Given the description of an element on the screen output the (x, y) to click on. 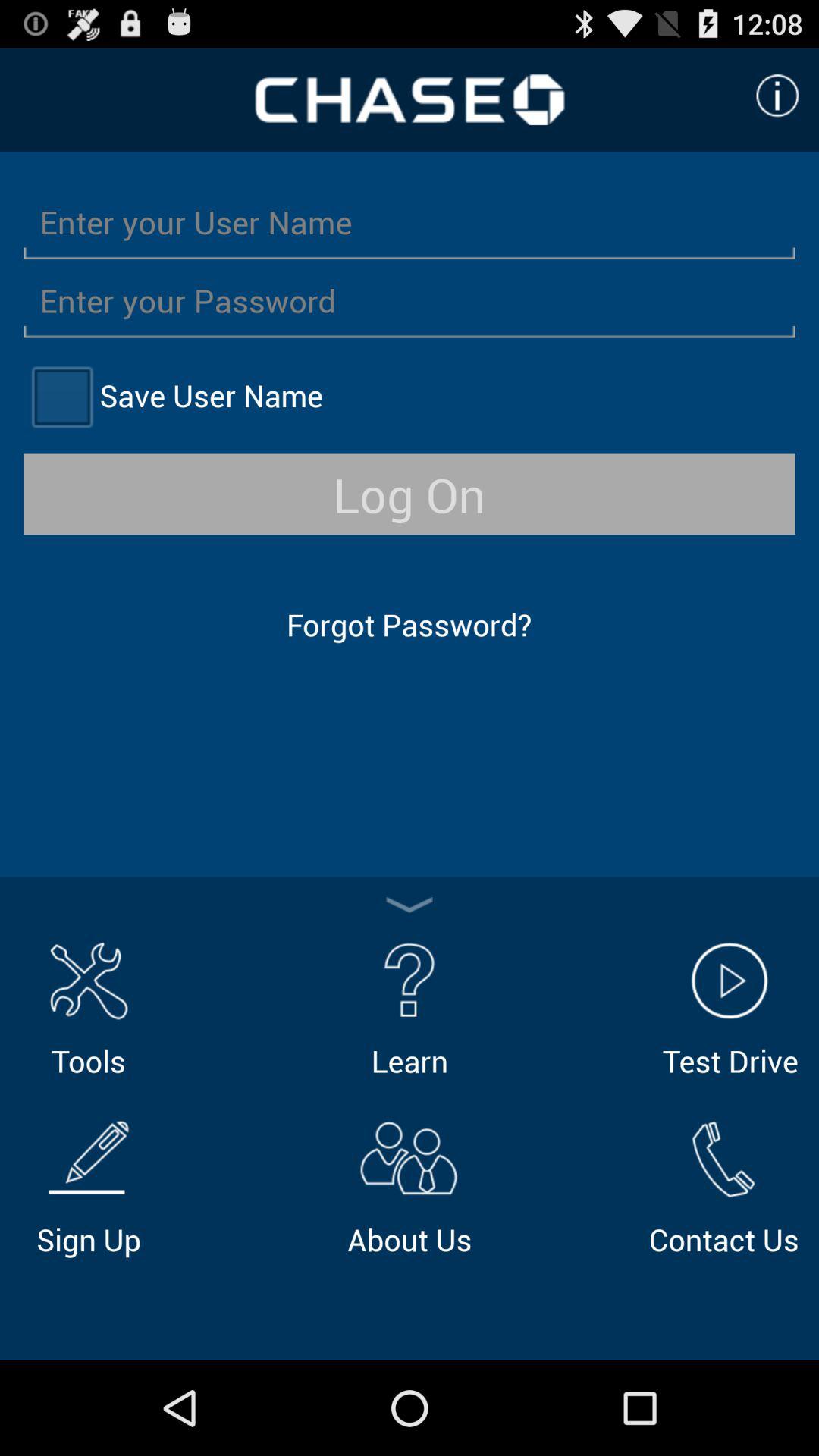
information icon (777, 95)
